Given the description of an element on the screen output the (x, y) to click on. 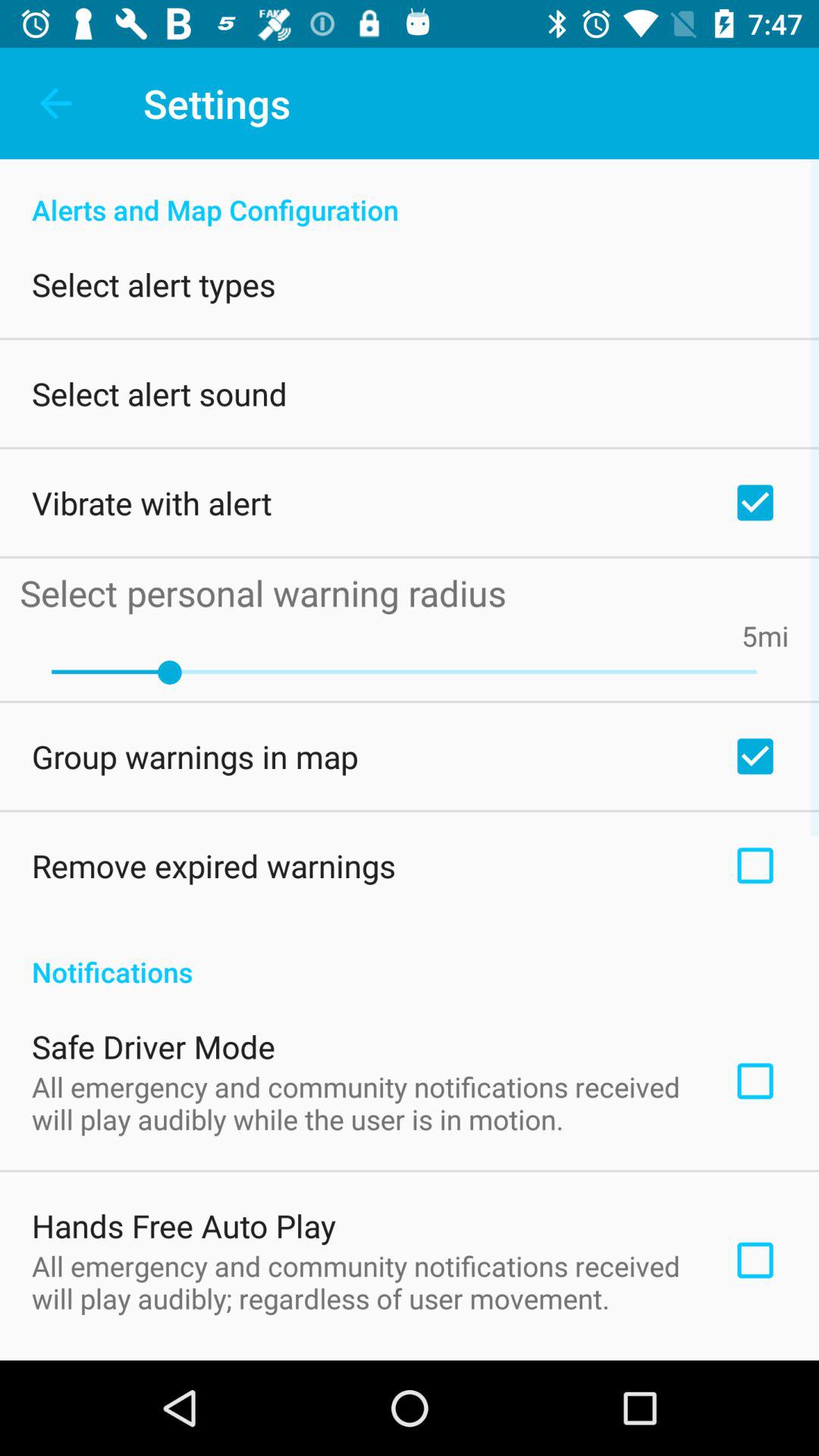
click the remove expired warnings item (213, 865)
